Given the description of an element on the screen output the (x, y) to click on. 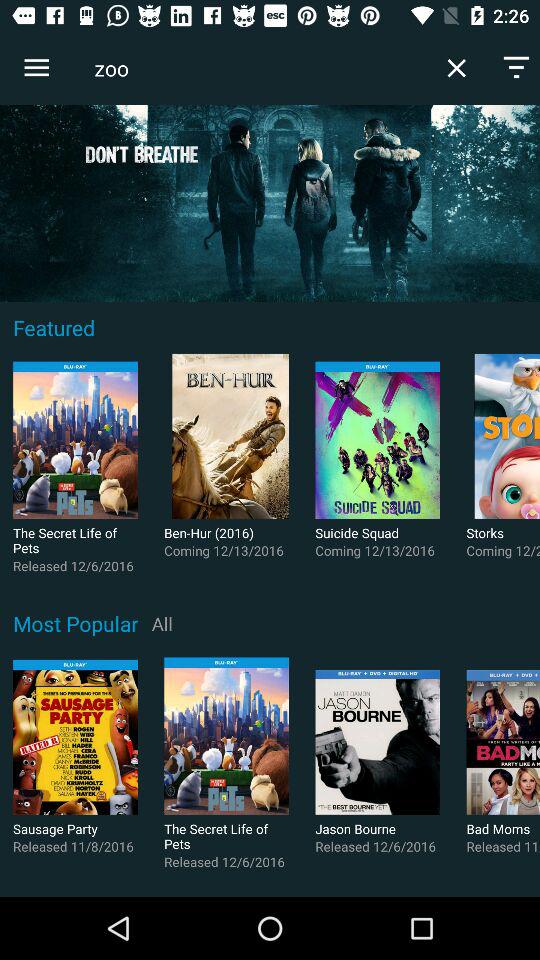
click the icon next to zoo icon (36, 68)
